Given the description of an element on the screen output the (x, y) to click on. 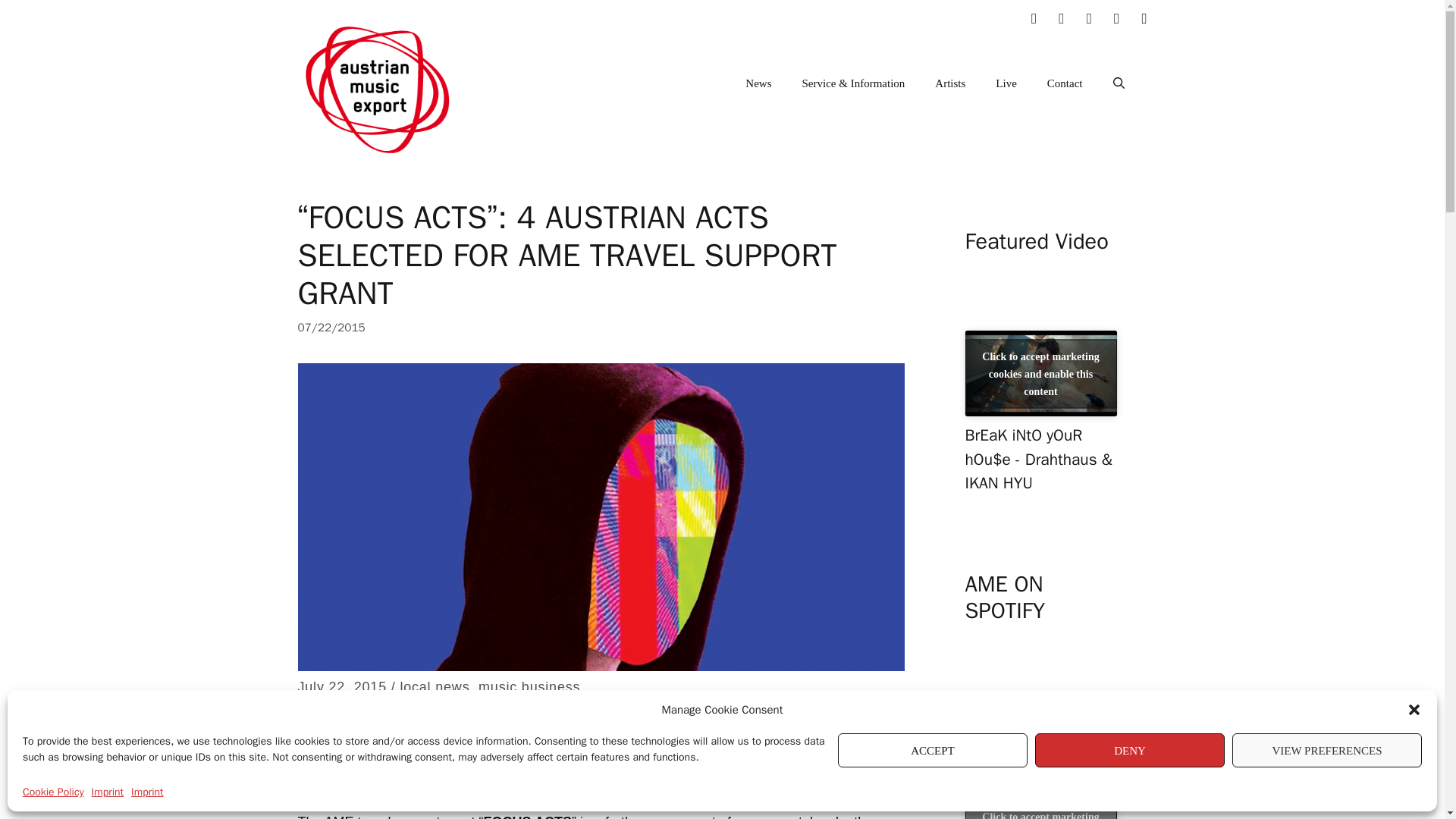
Imprint (147, 791)
local news (433, 686)
Contact (1064, 83)
music business (529, 686)
News (758, 83)
DENY (1129, 750)
Live (1005, 83)
Artists (949, 83)
ACCEPT (932, 750)
VIEW PREFERENCES (1326, 750)
Imprint (107, 791)
Cookie Policy (53, 791)
